Given the description of an element on the screen output the (x, y) to click on. 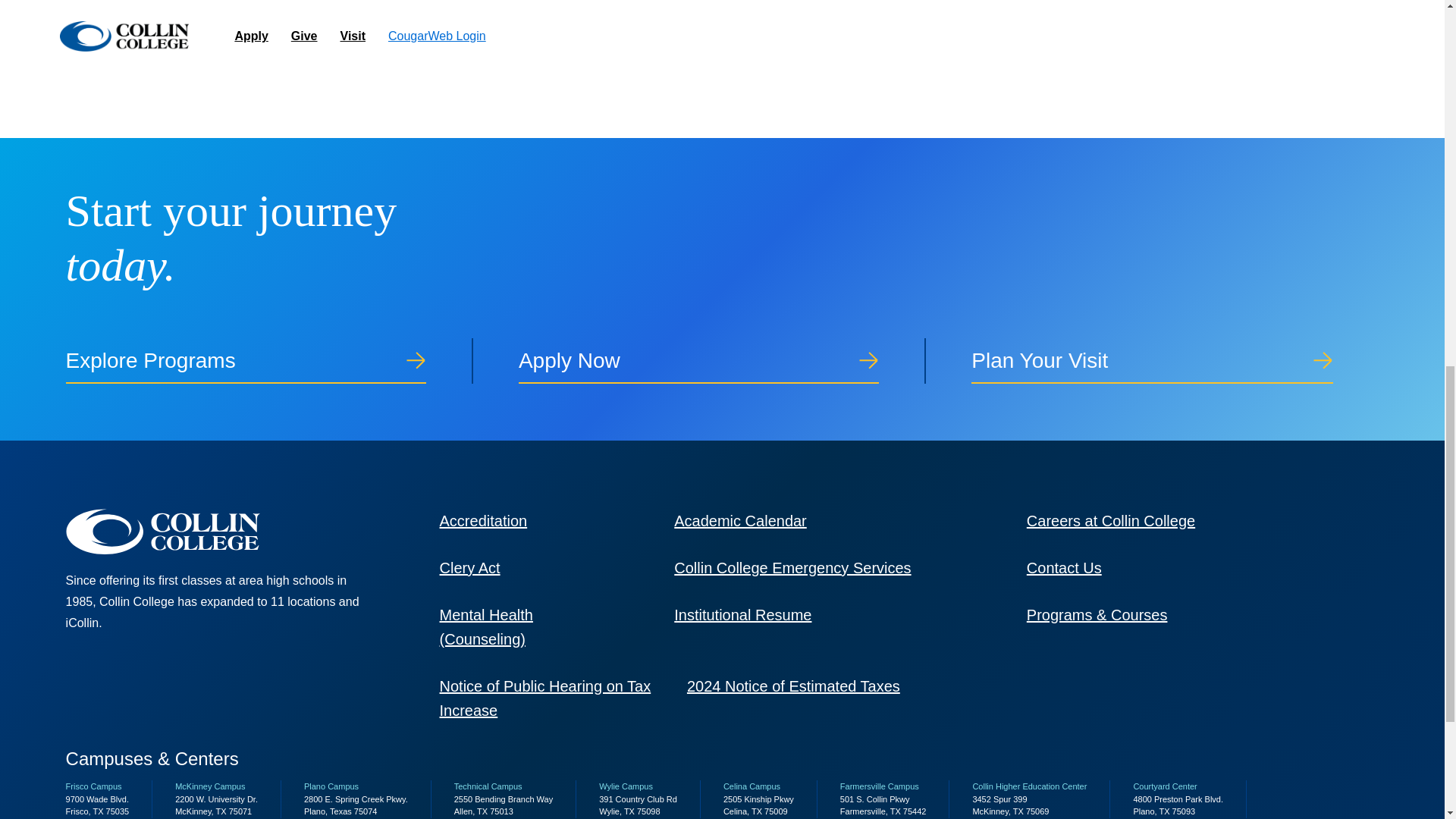
Accreditation (483, 520)
Institutional Resume (742, 614)
2024 Notice of Estimated Taxes (793, 686)
Academic Calendar (740, 520)
Notice of Public Hearing on Tax Increase (544, 698)
Collin College Emergency Services (792, 567)
Careers at Collin College (1110, 520)
Explore Programs (269, 361)
Clery Act (469, 567)
Apply Now (722, 361)
